Given the description of an element on the screen output the (x, y) to click on. 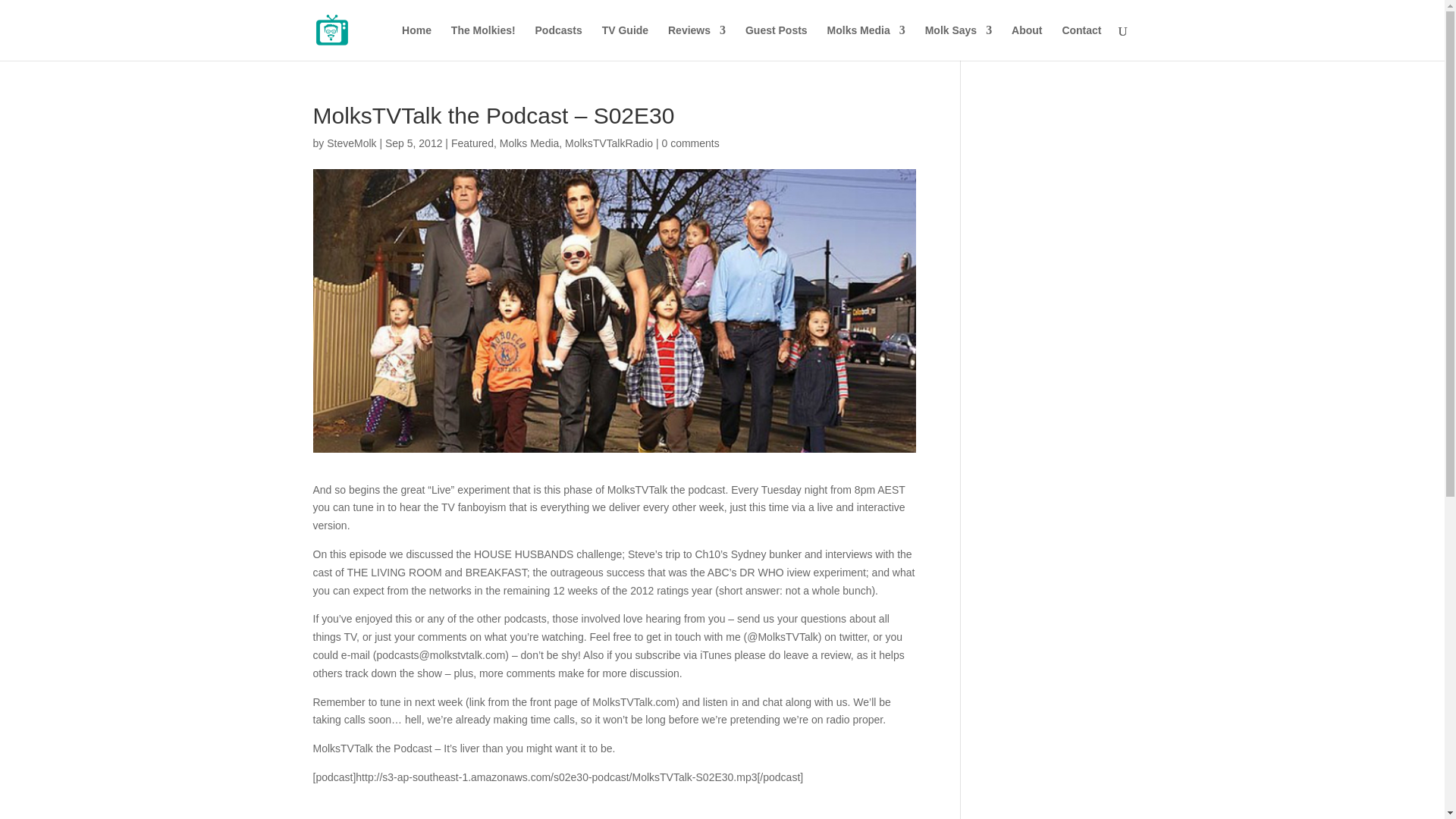
Posts by SteveMolk (350, 143)
Molks Media (866, 42)
Guest Posts (776, 42)
SteveMolk (350, 143)
MolksTVTalkRadio (608, 143)
0 comments (690, 143)
Featured (472, 143)
Contact (1080, 42)
Reviews (696, 42)
TV Guide (624, 42)
